Given the description of an element on the screen output the (x, y) to click on. 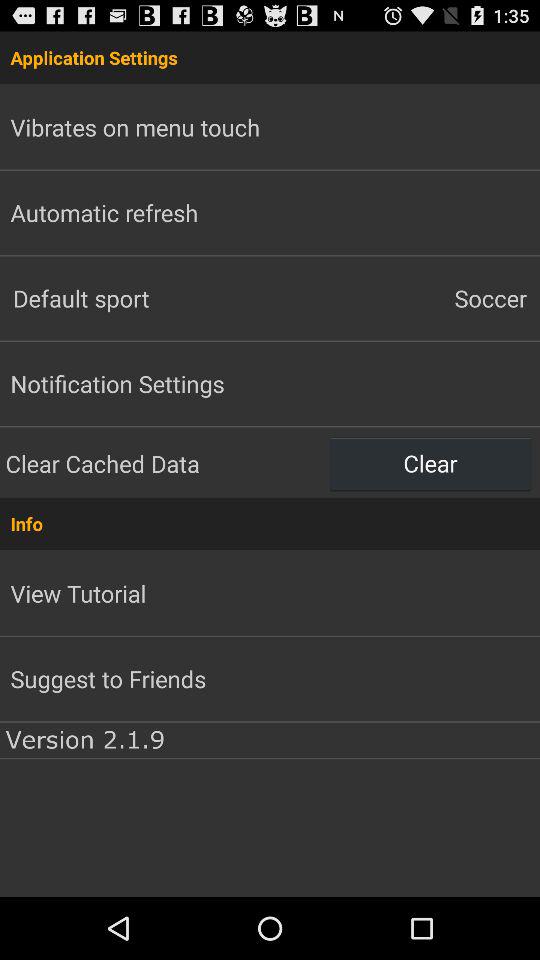
jump until the application settings app (270, 57)
